Given the description of an element on the screen output the (x, y) to click on. 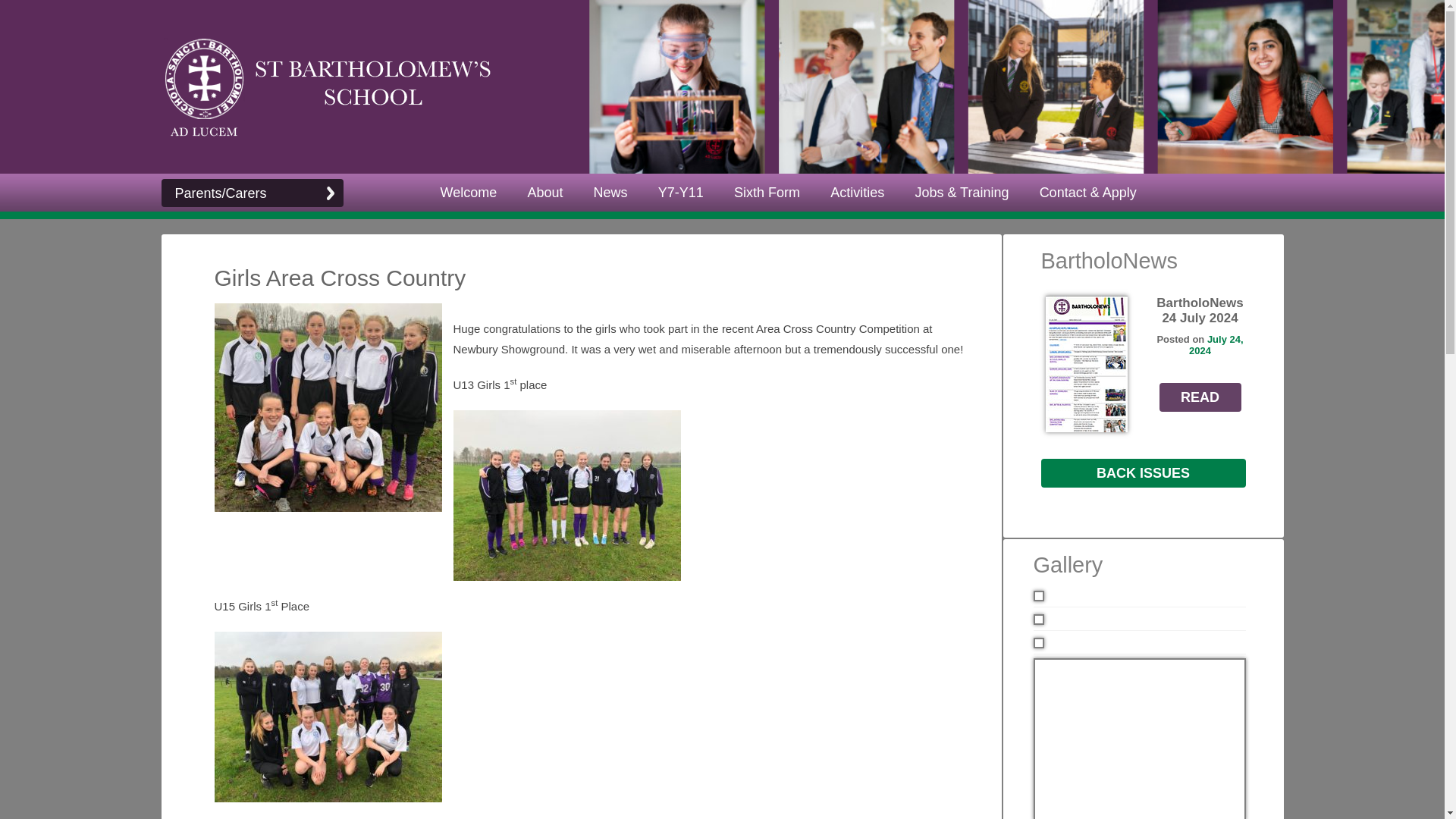
Sixth Form (766, 192)
News (610, 192)
Y7-Y11 (681, 192)
Welcome (468, 192)
About (544, 192)
